Given the description of an element on the screen output the (x, y) to click on. 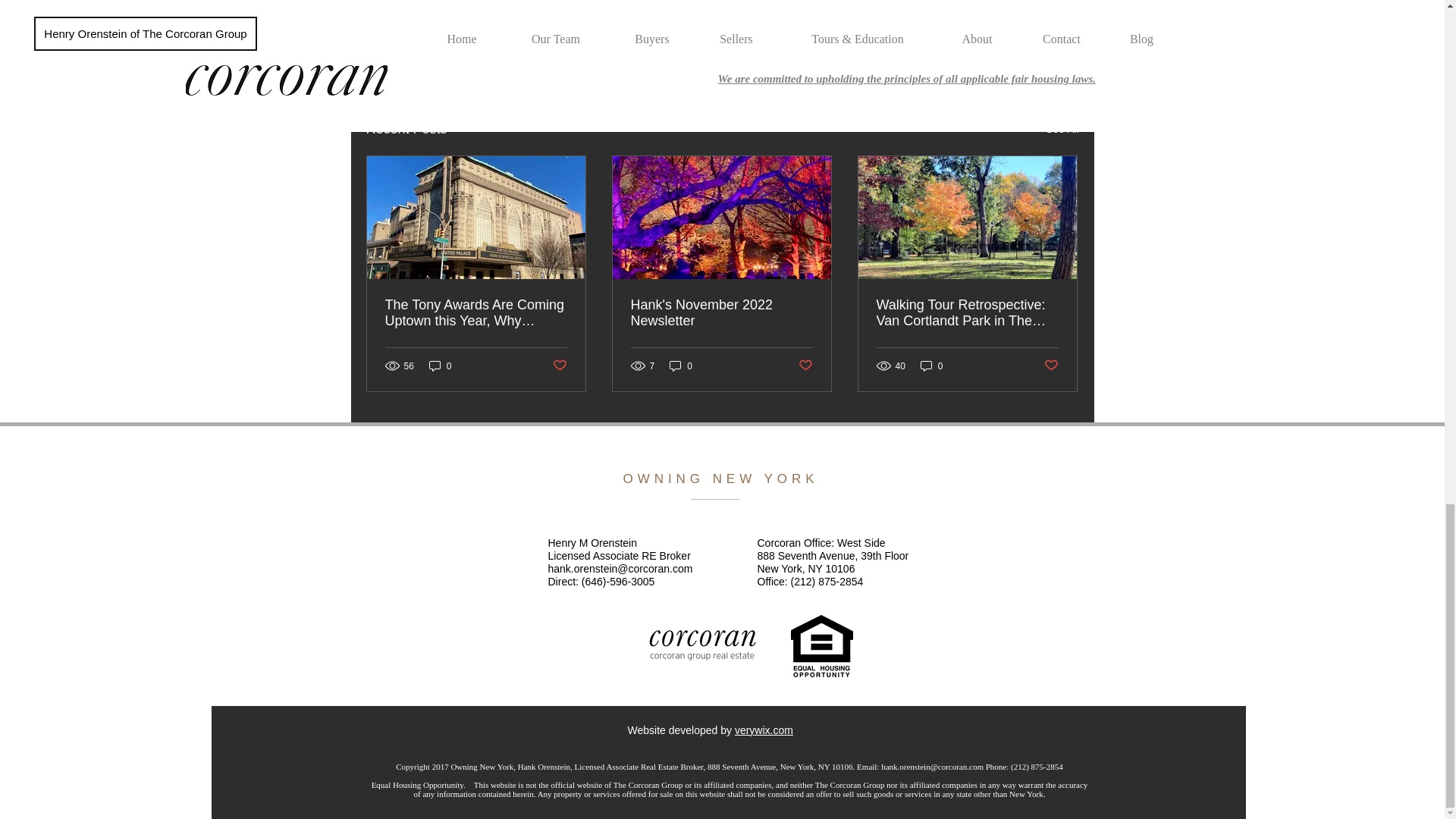
See All (1061, 128)
Walking Tour Retrospective: Van Cortlandt Park in The Bronx (967, 313)
Hank's November 2022 Newsletter (721, 313)
Post not marked as liked (995, 46)
0 (931, 365)
Post not marked as liked (558, 365)
0 (681, 365)
Post not marked as liked (804, 365)
Post not marked as liked (1050, 365)
